Given the description of an element on the screen output the (x, y) to click on. 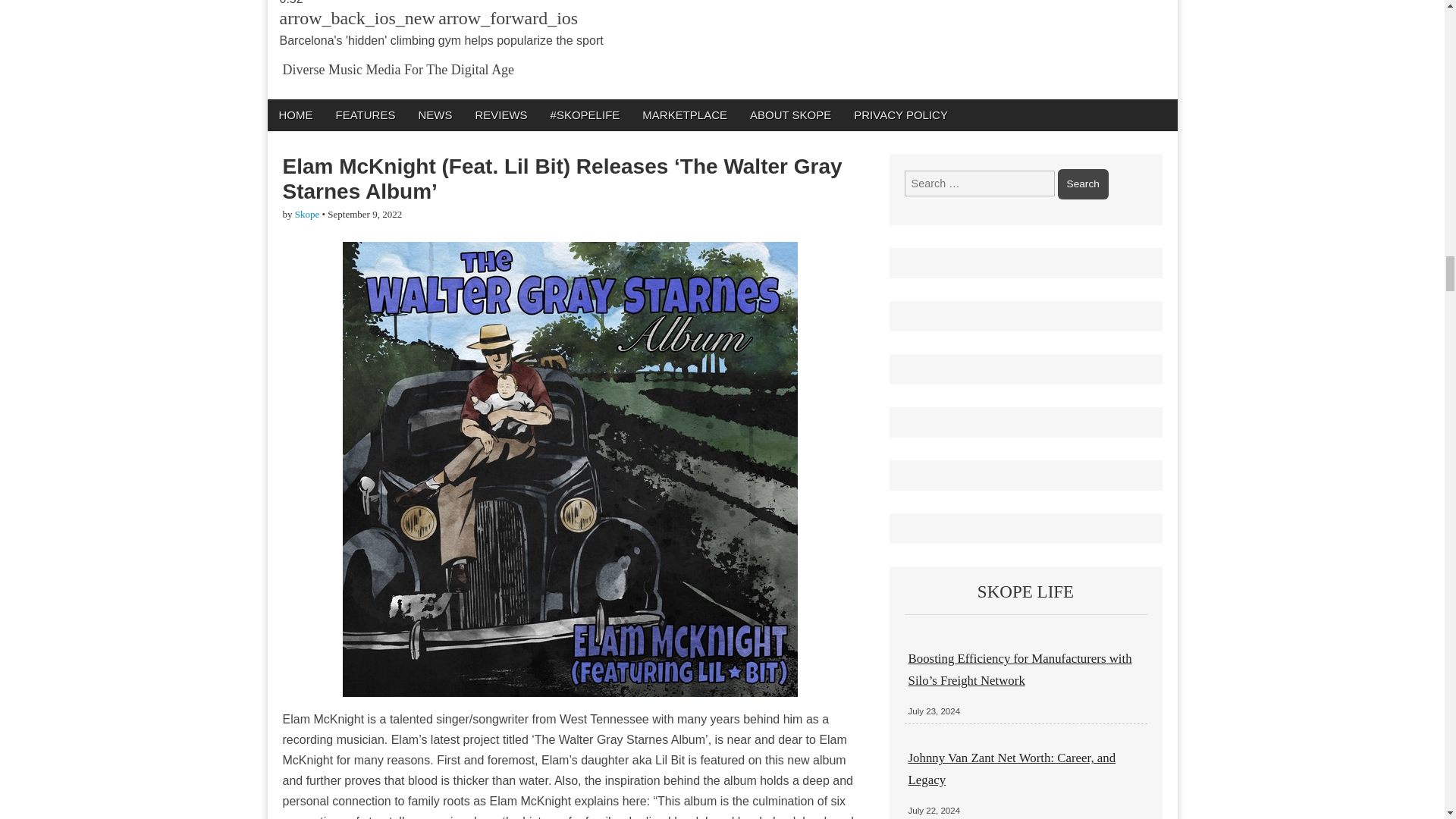
FEATURES (365, 114)
Search (1083, 183)
HOME (294, 114)
MARKETPLACE (684, 114)
Posts by Skope (307, 214)
ABOUT SKOPE (790, 114)
REVIEWS (500, 114)
PRIVACY POLICY (901, 114)
Skope (307, 214)
Search (1083, 183)
NEWS (434, 114)
Search (1083, 183)
Johnny Van Zant Net Worth: Career, and Legacy (1012, 768)
